Given the description of an element on the screen output the (x, y) to click on. 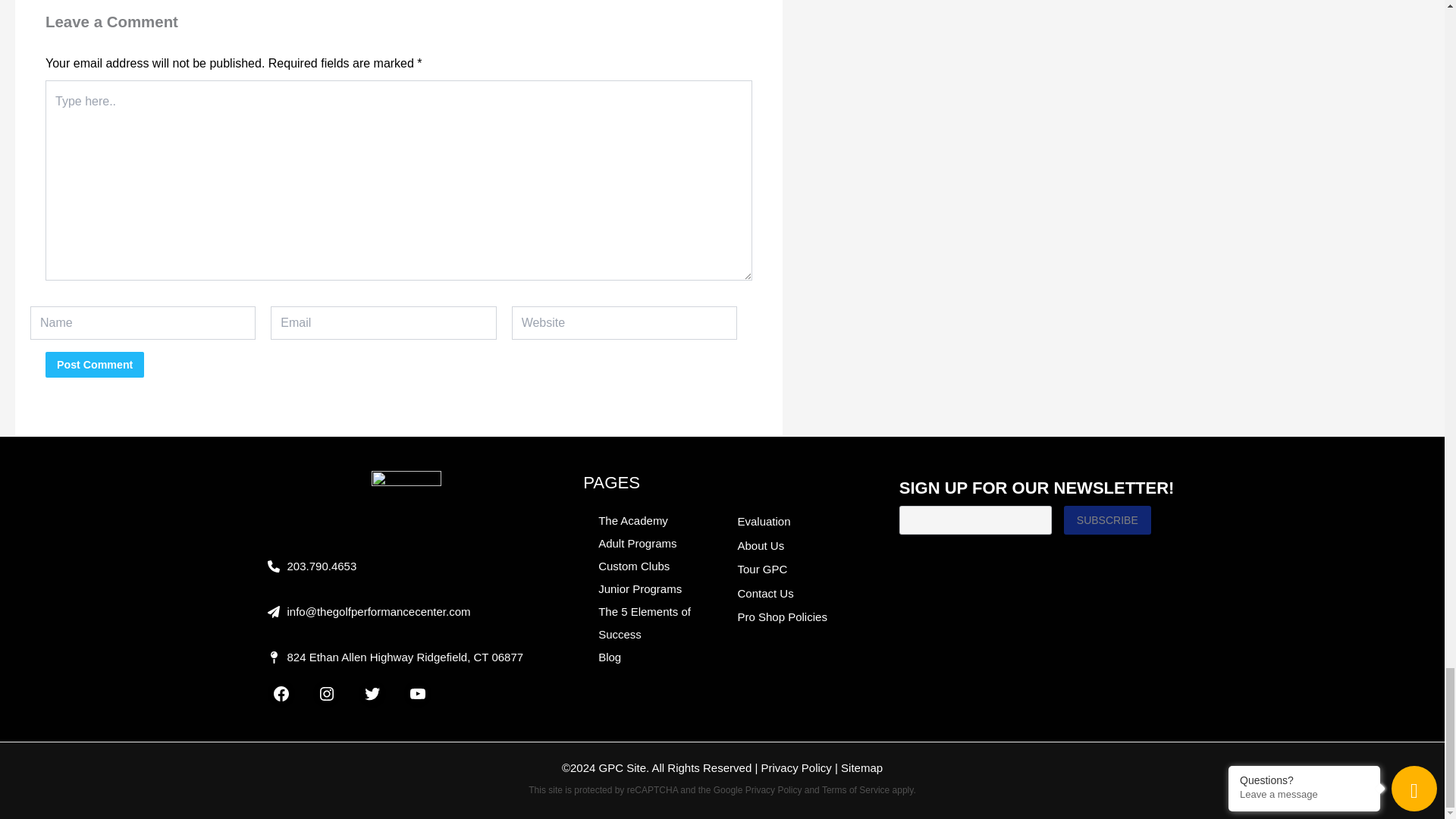
Post Comment (94, 364)
SUBSCRIBE (1107, 520)
